Given the description of an element on the screen output the (x, y) to click on. 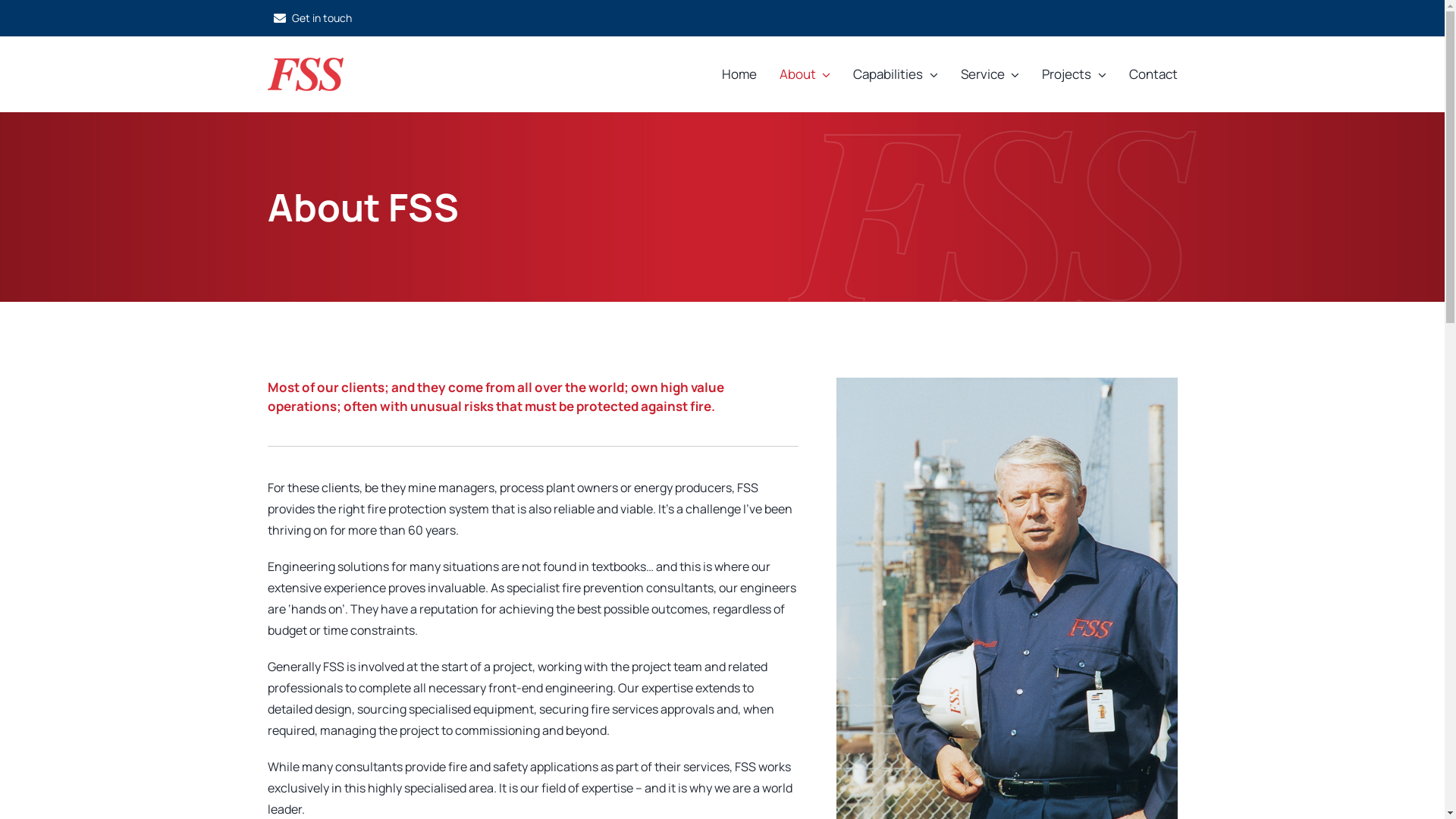
About Element type: text (805, 74)
Projects Element type: text (1073, 74)
Contact Element type: text (1152, 74)
Service Element type: text (989, 74)
Get in touch Element type: text (308, 17)
Home Element type: text (738, 74)
Capabilities Element type: text (895, 74)
